Given the description of an element on the screen output the (x, y) to click on. 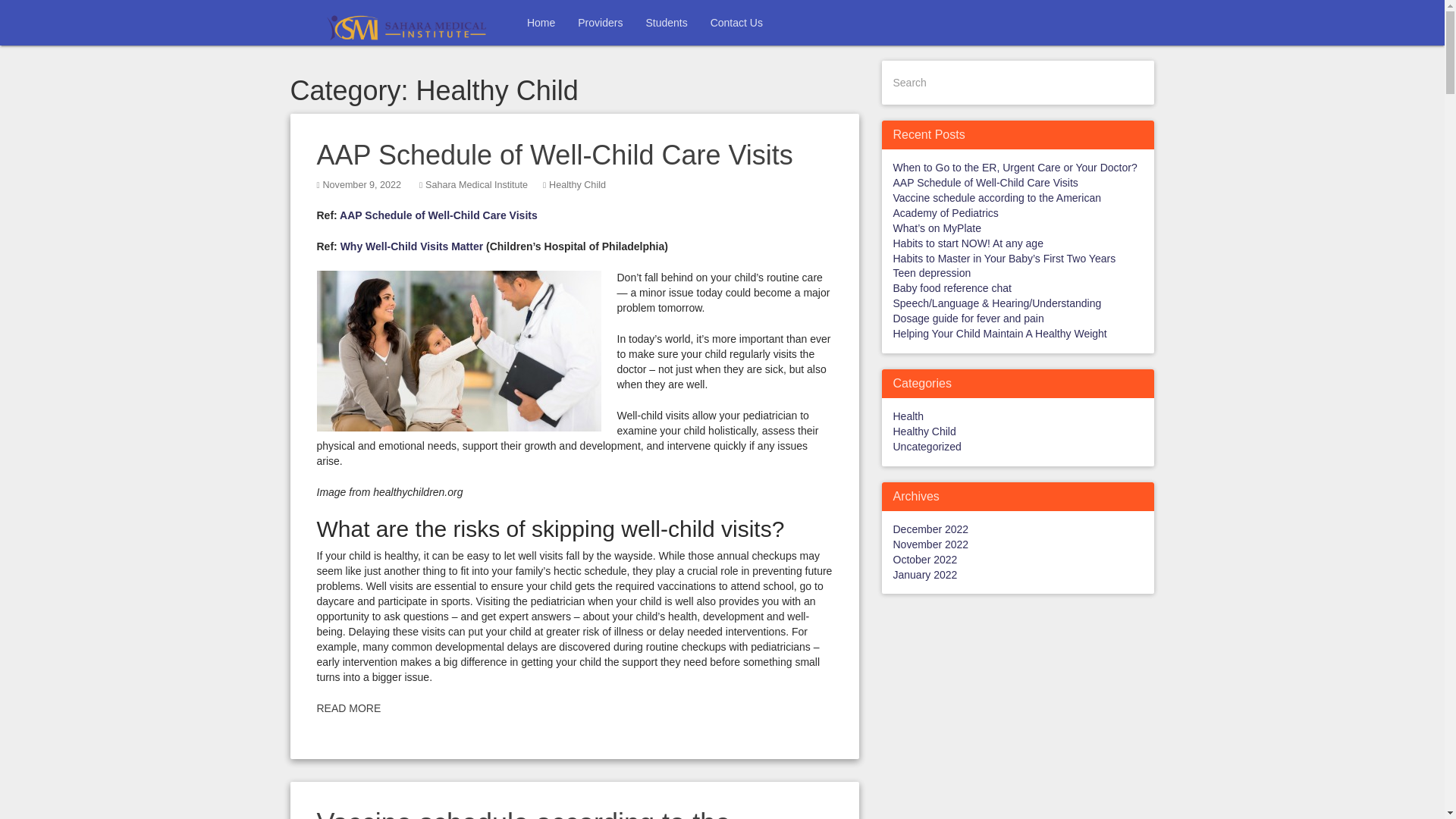
AAP Schedule of Well-Child Care Visits (555, 154)
Students (665, 22)
Sahara Medical Institute (476, 184)
Healthy Child (576, 184)
Home (540, 22)
AAP Schedule of Well-Child Care Visits (438, 215)
READ MORE (349, 707)
Why Well-Child Visits Matter (411, 246)
Contact Us (736, 22)
